Given the description of an element on the screen output the (x, y) to click on. 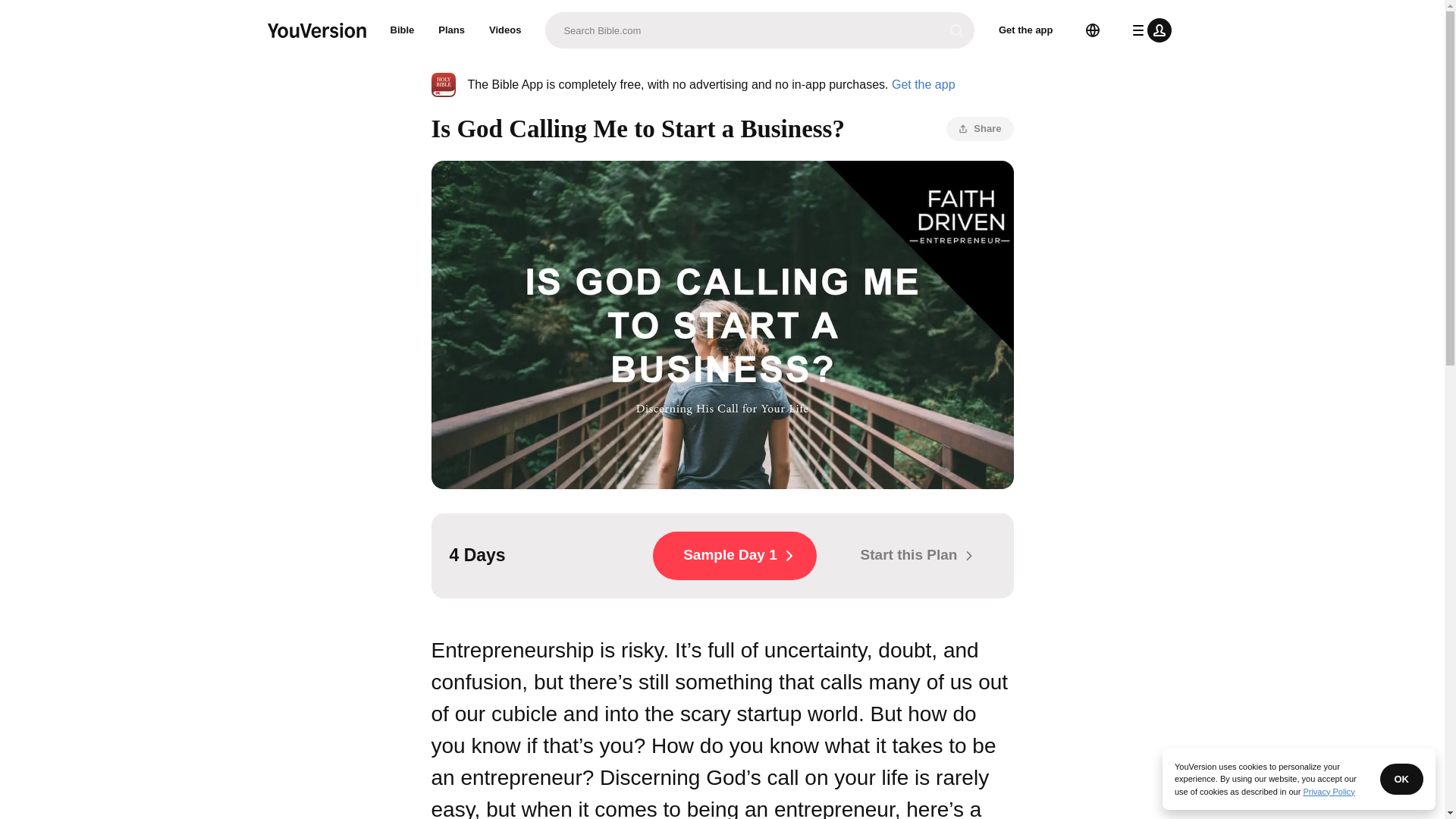
Sample Day 1 (734, 555)
Plans (451, 29)
Videos (504, 29)
Bible (401, 29)
Share (979, 128)
Get the app (1026, 29)
Bible Icon (442, 84)
Start this Plan (911, 555)
Get the app (923, 83)
